Given the description of an element on the screen output the (x, y) to click on. 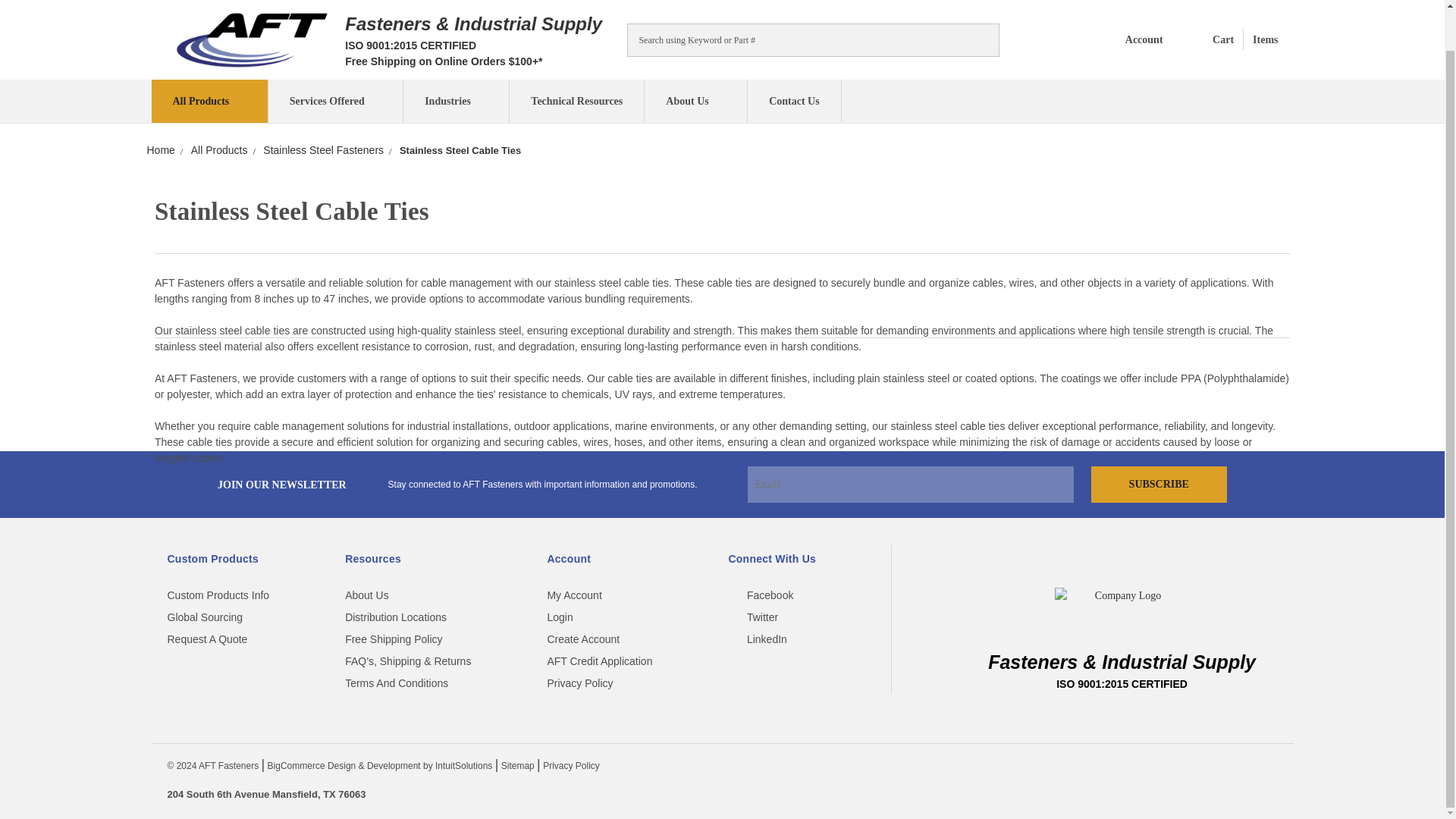
Toggle Mobile Search (980, 37)
Subscribe (1158, 484)
Account (1132, 39)
AFT Fasteners (251, 39)
Search (980, 40)
All Products (1229, 40)
